Given the description of an element on the screen output the (x, y) to click on. 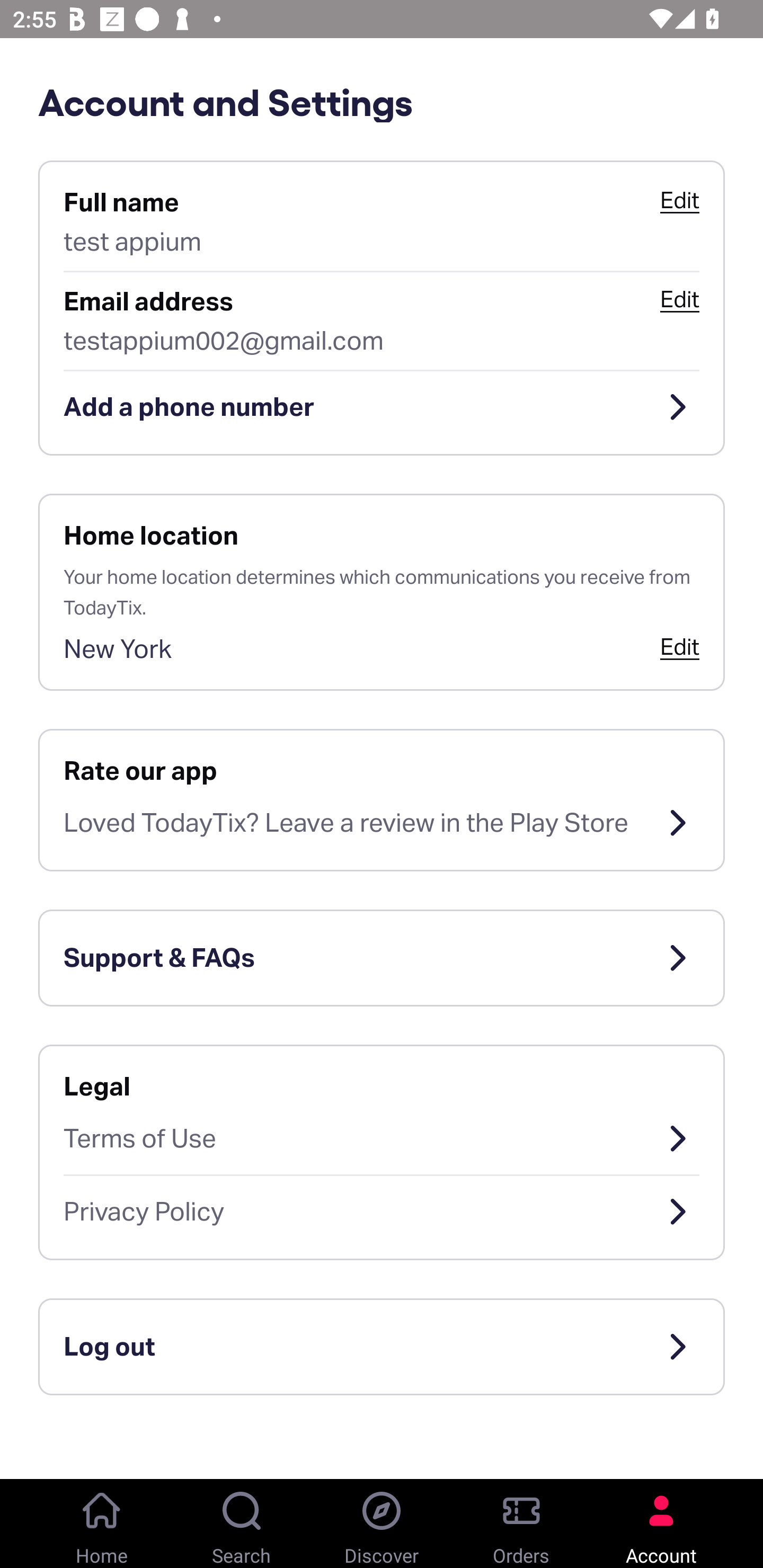
Edit (679, 200)
Edit (679, 299)
Add a phone number (381, 406)
Edit (679, 646)
Loved TodayTix? Leave a review in the Play Store (381, 822)
Support & FAQs (381, 957)
Terms of Use (381, 1137)
Privacy Policy (381, 1211)
Log out (381, 1346)
Home (101, 1523)
Search (241, 1523)
Discover (381, 1523)
Orders (521, 1523)
